Given the description of an element on the screen output the (x, y) to click on. 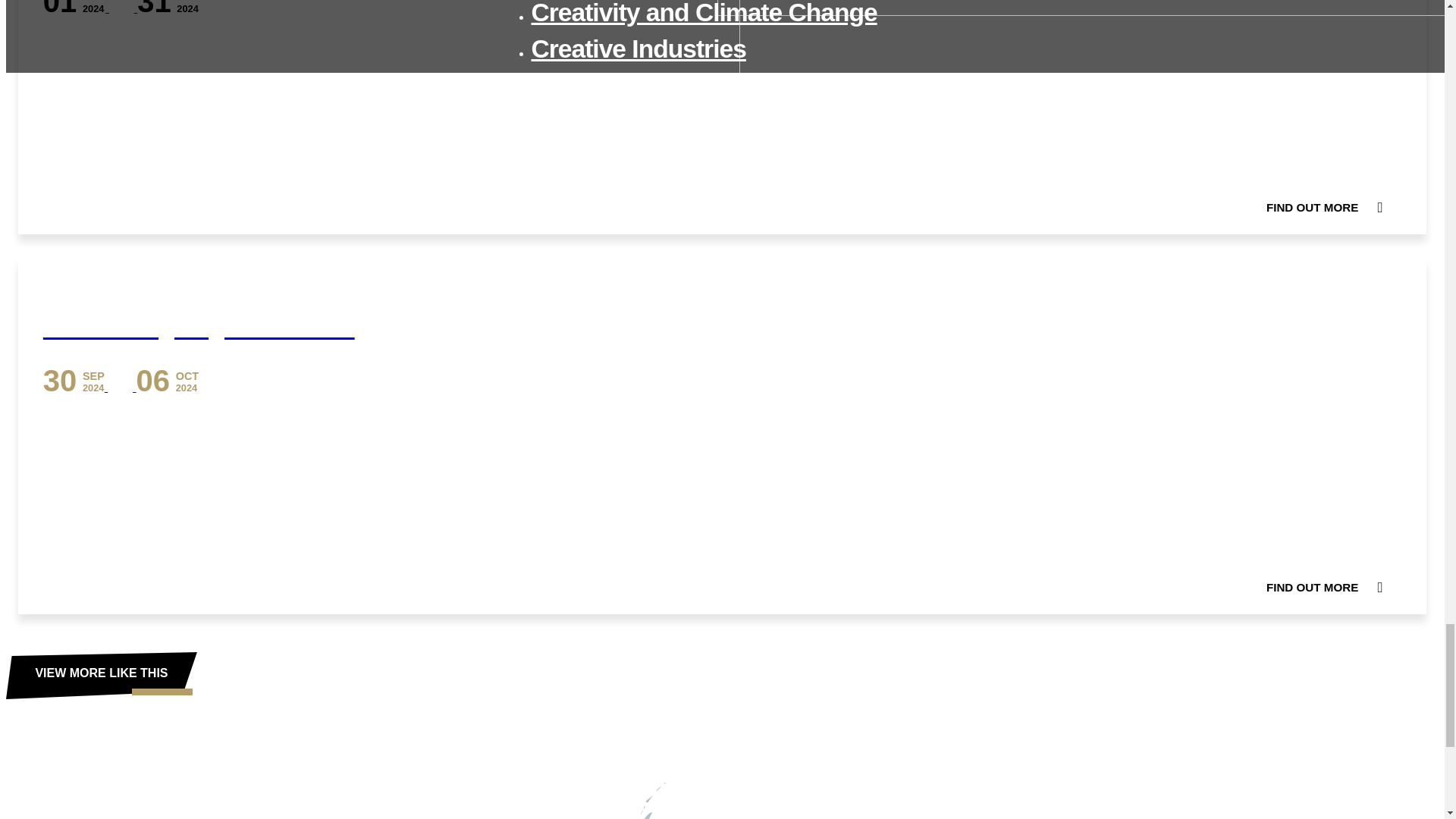
VIEW MORE LIKE THIS (100, 675)
